Given the description of an element on the screen output the (x, y) to click on. 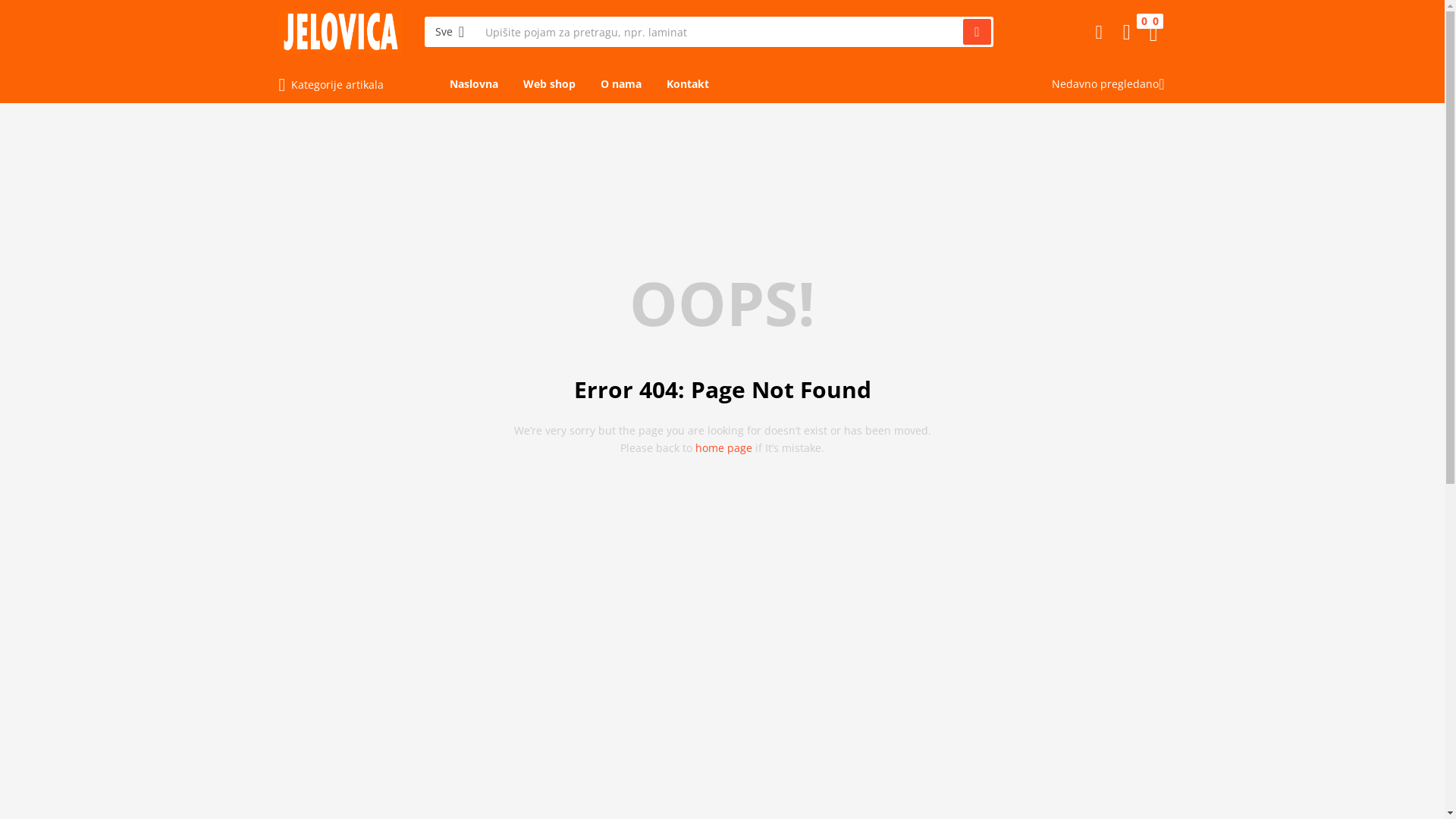
0 Element type: text (1126, 32)
0 Element type: text (1153, 31)
Kontakt Element type: text (686, 84)
home page Element type: text (723, 447)
Web shop Element type: text (549, 84)
Naslovna Element type: text (472, 84)
O nama Element type: text (620, 84)
Kategorije artikala Element type: text (331, 84)
